Given the description of an element on the screen output the (x, y) to click on. 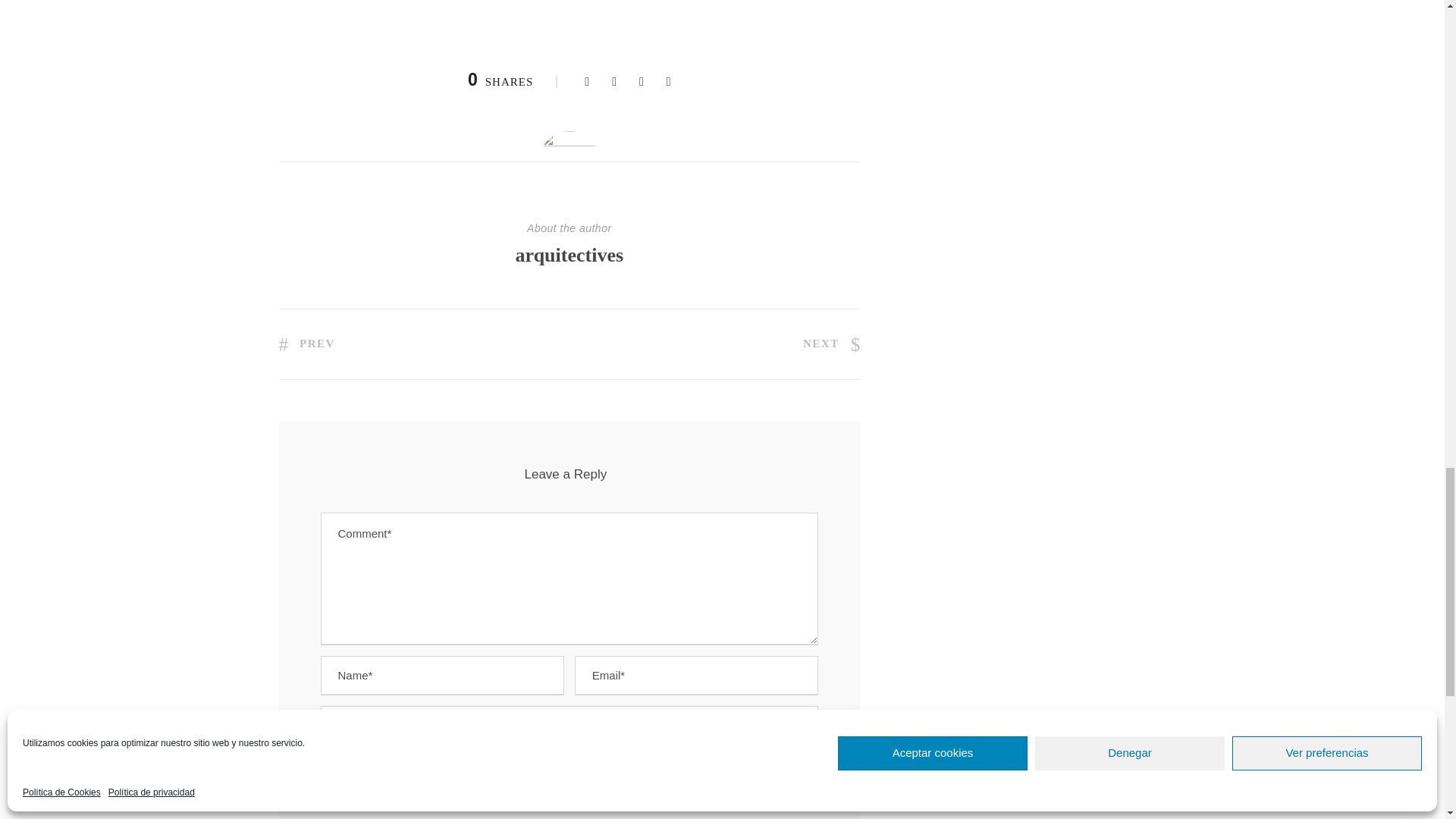
Post Comment (569, 783)
Entradas de arquitectives (569, 255)
